Given the description of an element on the screen output the (x, y) to click on. 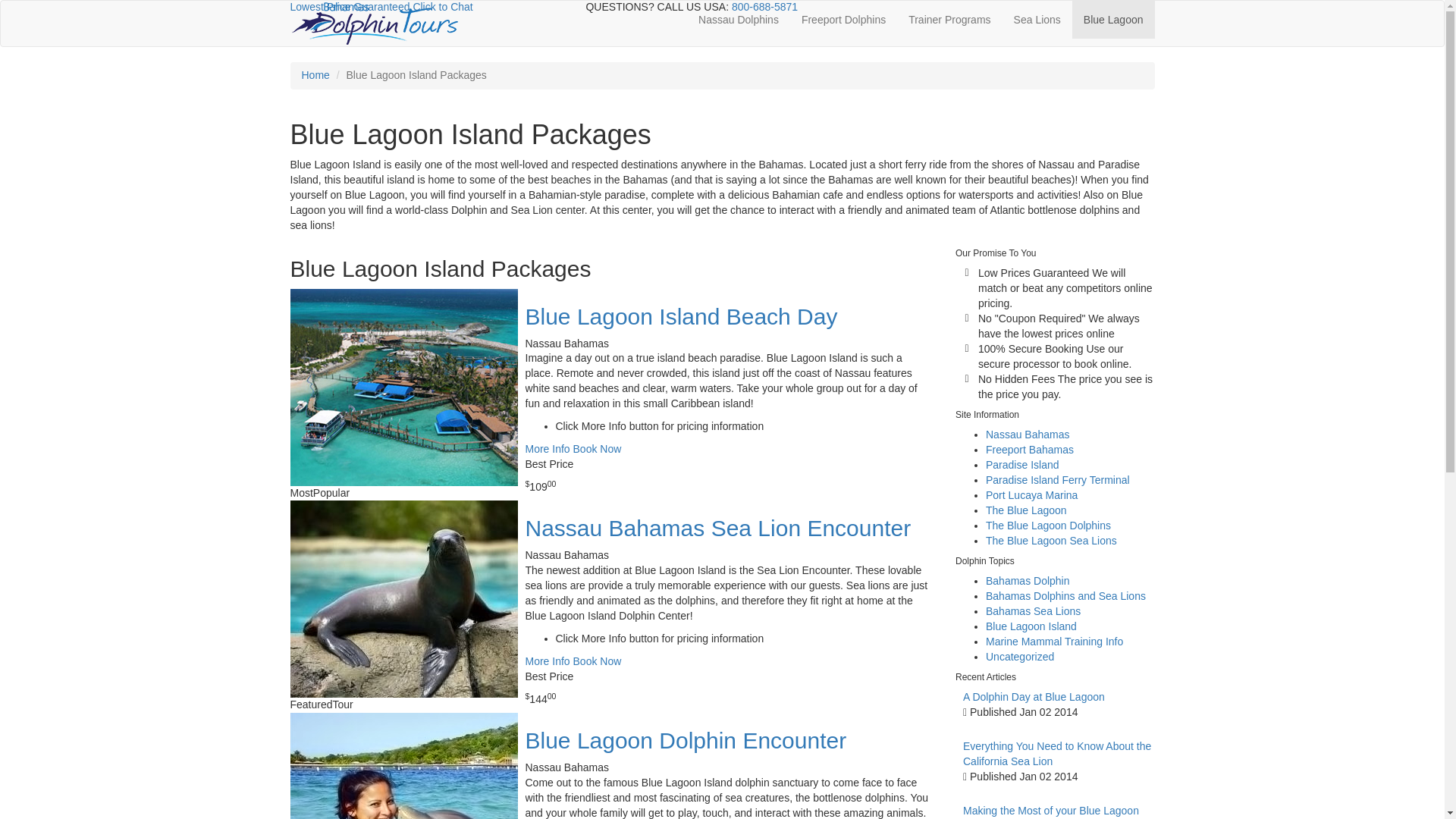
Home (315, 74)
Bahamas Dolphin Encounters (373, 22)
The Blue Lagoon Sea Lions (1050, 540)
Nassau Bahamas Sea Lion Encounter (597, 661)
Freeport Bahamas Dolphin Programs (843, 19)
Freeport Bahamas (1029, 449)
Nassau Bahamas Sea Lion Encounter (717, 527)
800-688-5871 (764, 6)
Freeport Dolphins (843, 19)
Nassau Bahamas Sea Lion Encounter (1037, 19)
